Given the description of an element on the screen output the (x, y) to click on. 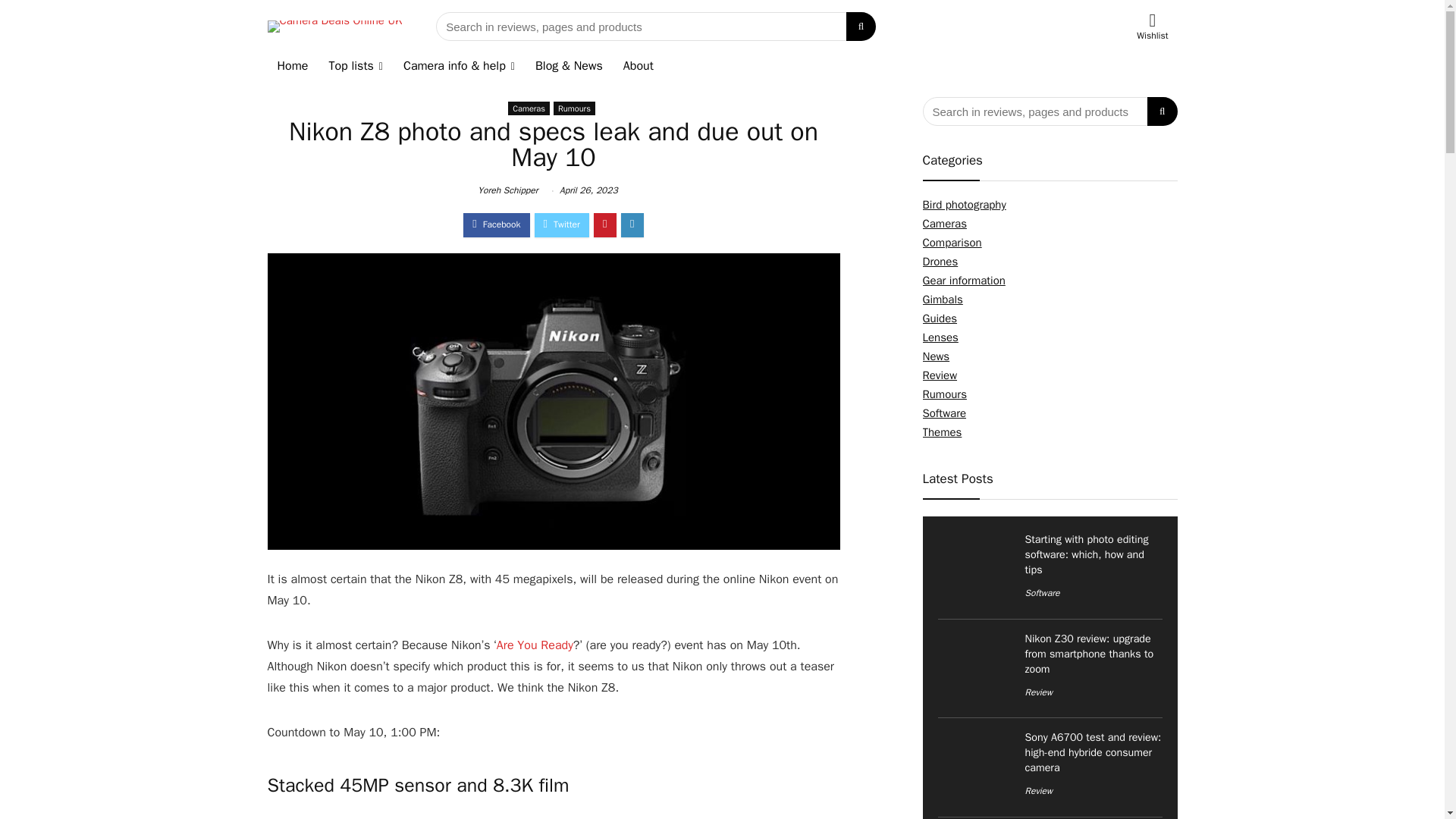
Yoreh Schipper (507, 190)
View all posts in Cameras (529, 108)
About (637, 67)
View all posts in Rumours (574, 108)
Cameras (529, 108)
Home (291, 67)
Are You Ready (534, 645)
Top lists (355, 67)
Rumours (574, 108)
